Given the description of an element on the screen output the (x, y) to click on. 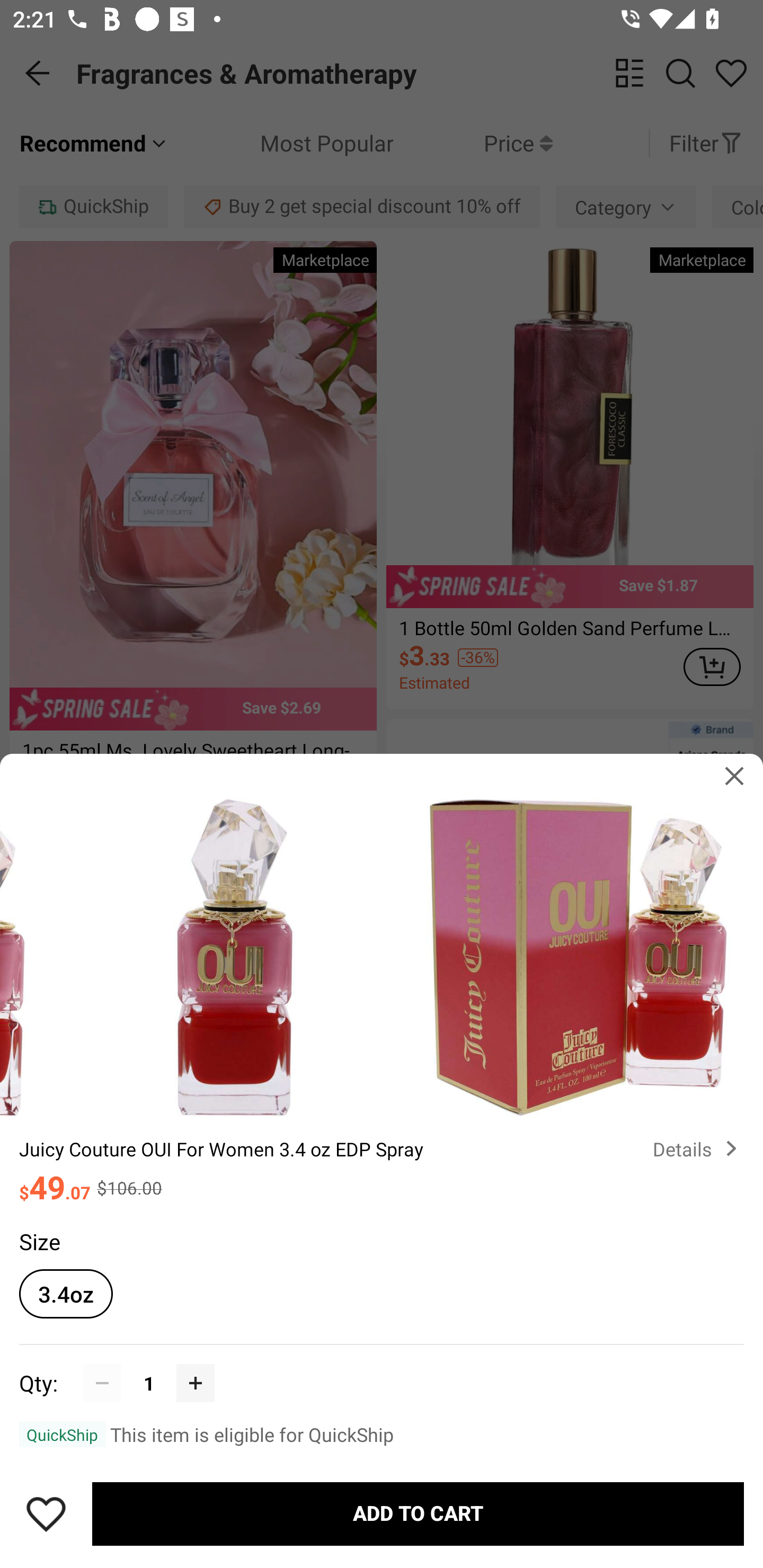
Details (698, 1148)
Size (39, 1240)
3.4oz 3.4ozselected option (65, 1293)
ADD TO CART (417, 1513)
Save (46, 1513)
